Given the description of an element on the screen output the (x, y) to click on. 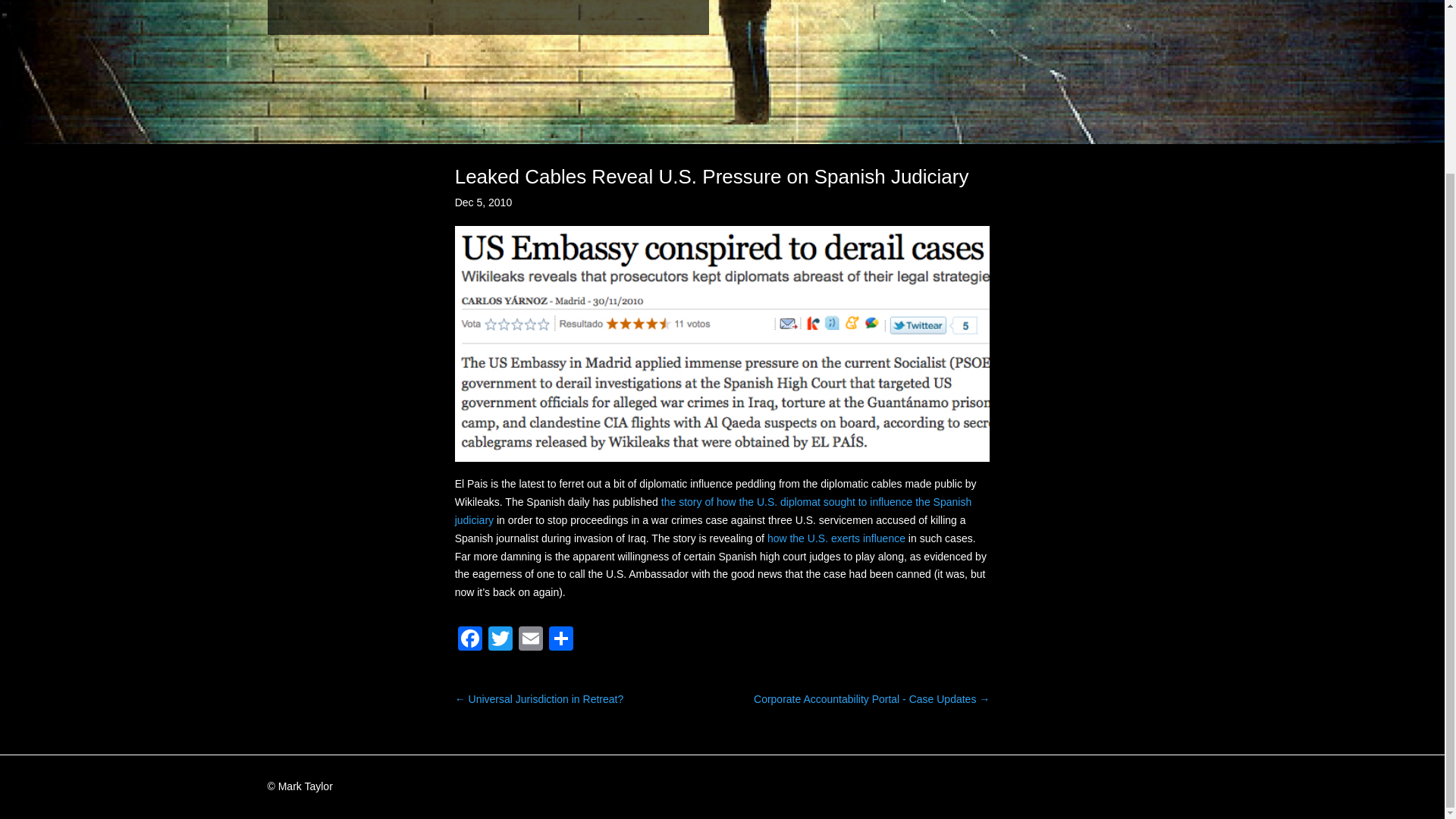
Facebook (469, 640)
Twitter (499, 640)
Facebook (469, 640)
Share (561, 640)
Email (530, 640)
El Pais cablegate (722, 344)
how the U.S. exerts influence (836, 538)
Email (530, 640)
Twitter (499, 640)
